Given the description of an element on the screen output the (x, y) to click on. 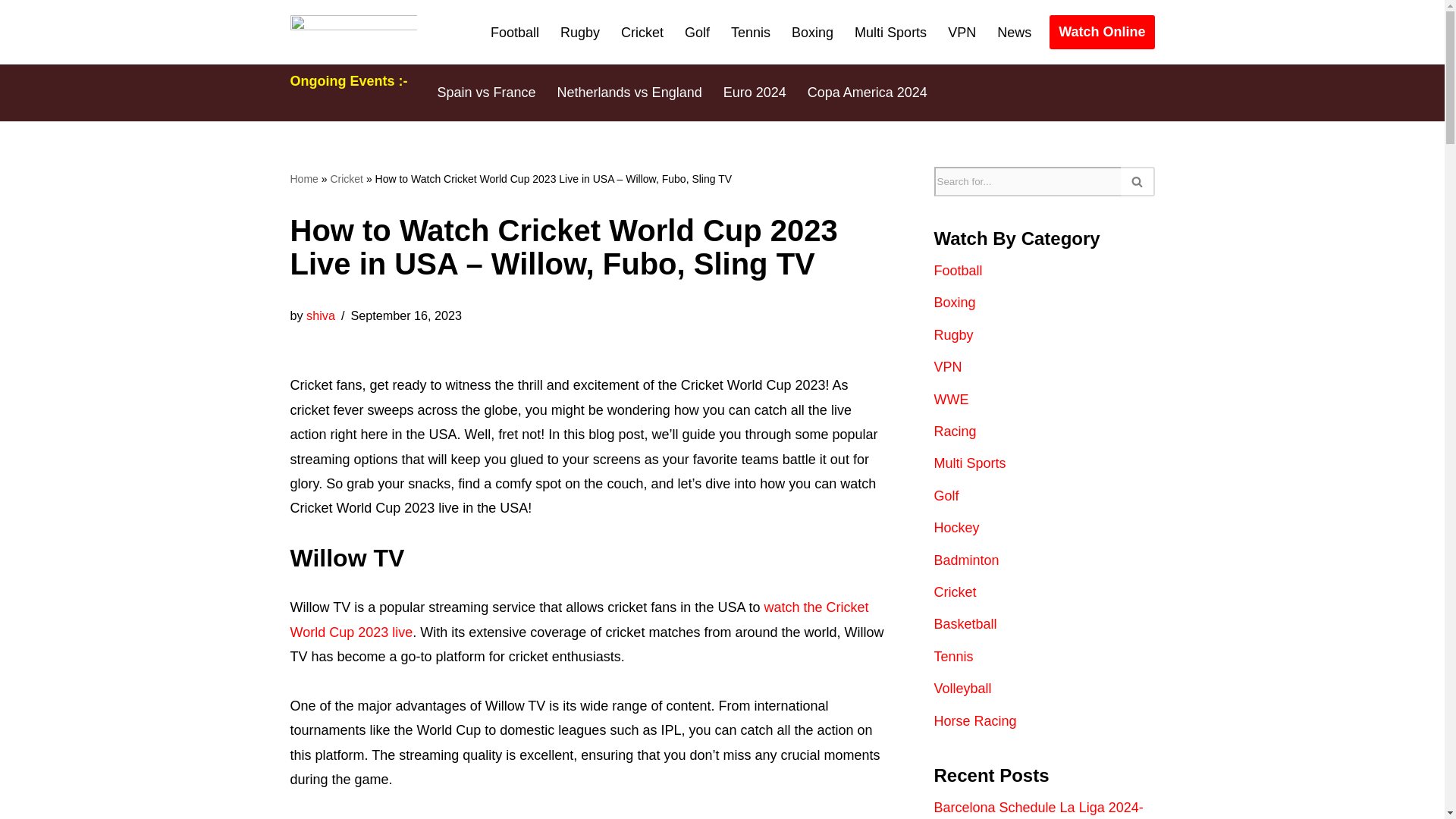
Boxing (812, 32)
VPN (961, 32)
shiva (319, 315)
Posts by shiva (319, 315)
News (1013, 32)
Copa America 2024 (867, 92)
Golf (697, 32)
Spain vs France (485, 92)
Home (303, 178)
Multi Sports (890, 32)
Skip to content (11, 31)
Cricket (642, 32)
Watch Online (1101, 32)
Football (514, 32)
Euro 2024 (754, 92)
